Given the description of an element on the screen output the (x, y) to click on. 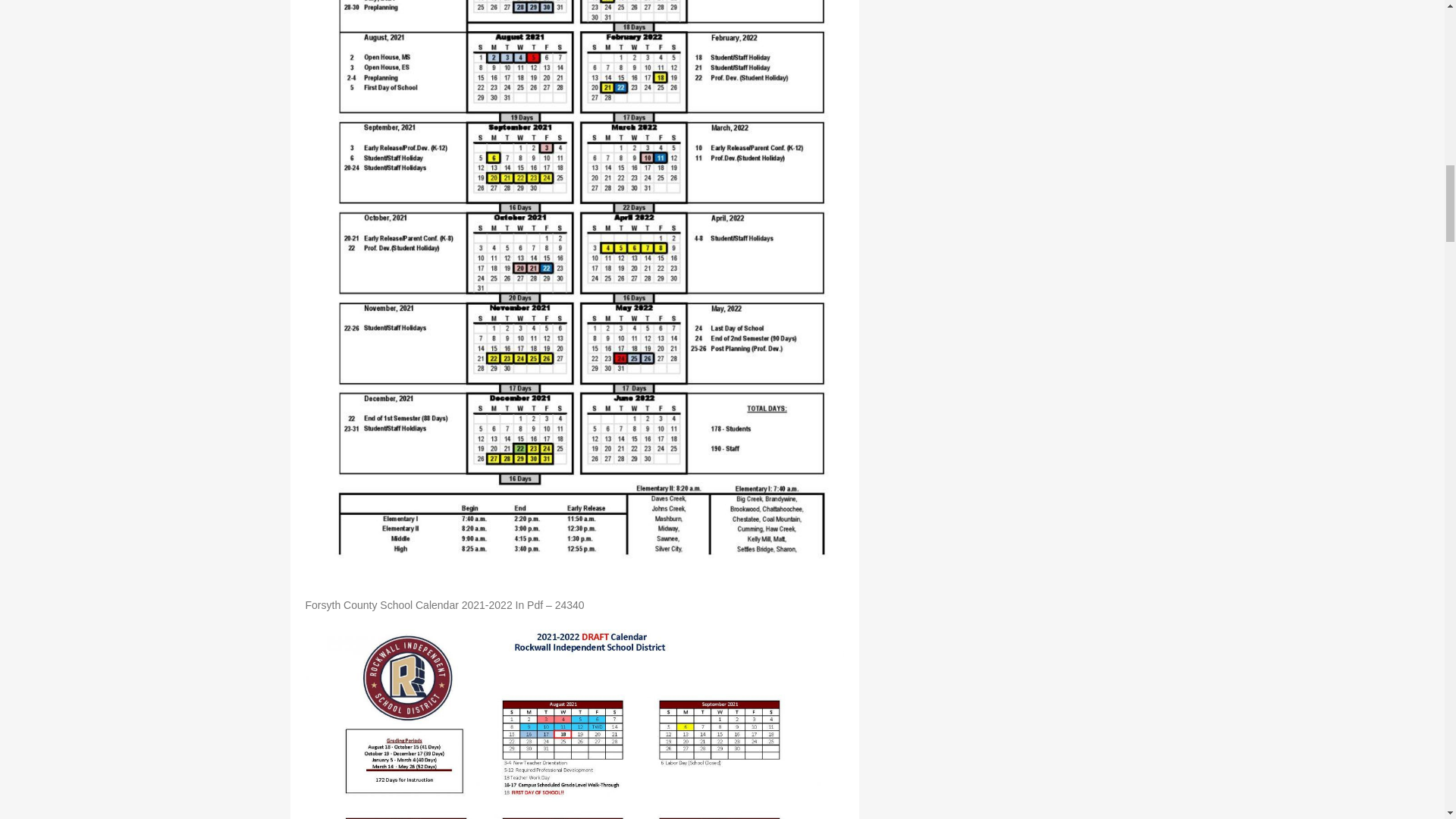
Rockwall Isd Seeks Public Input On 2021-2022 School (573, 717)
